Given the description of an element on the screen output the (x, y) to click on. 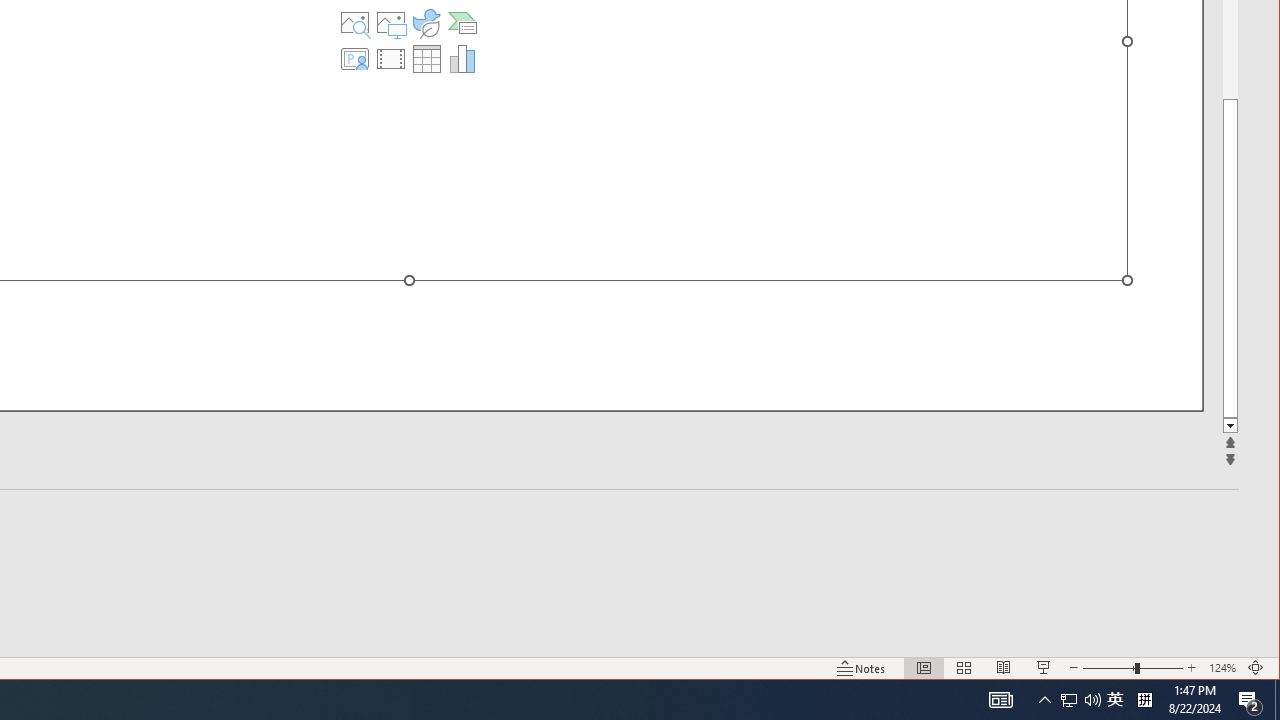
Insert Video (391, 58)
Slide Sorter (1069, 699)
Normal (964, 668)
Insert Chart (923, 668)
Zoom Out (462, 58)
Stock Images (1108, 668)
Insert an Icon (355, 22)
Notification Chevron (426, 22)
Reading View (1044, 699)
AutomationID: 4105 (1004, 668)
Zoom In (1000, 699)
Action Center, 2 new notifications (1191, 668)
Q2790: 100% (1250, 699)
